Given the description of an element on the screen output the (x, y) to click on. 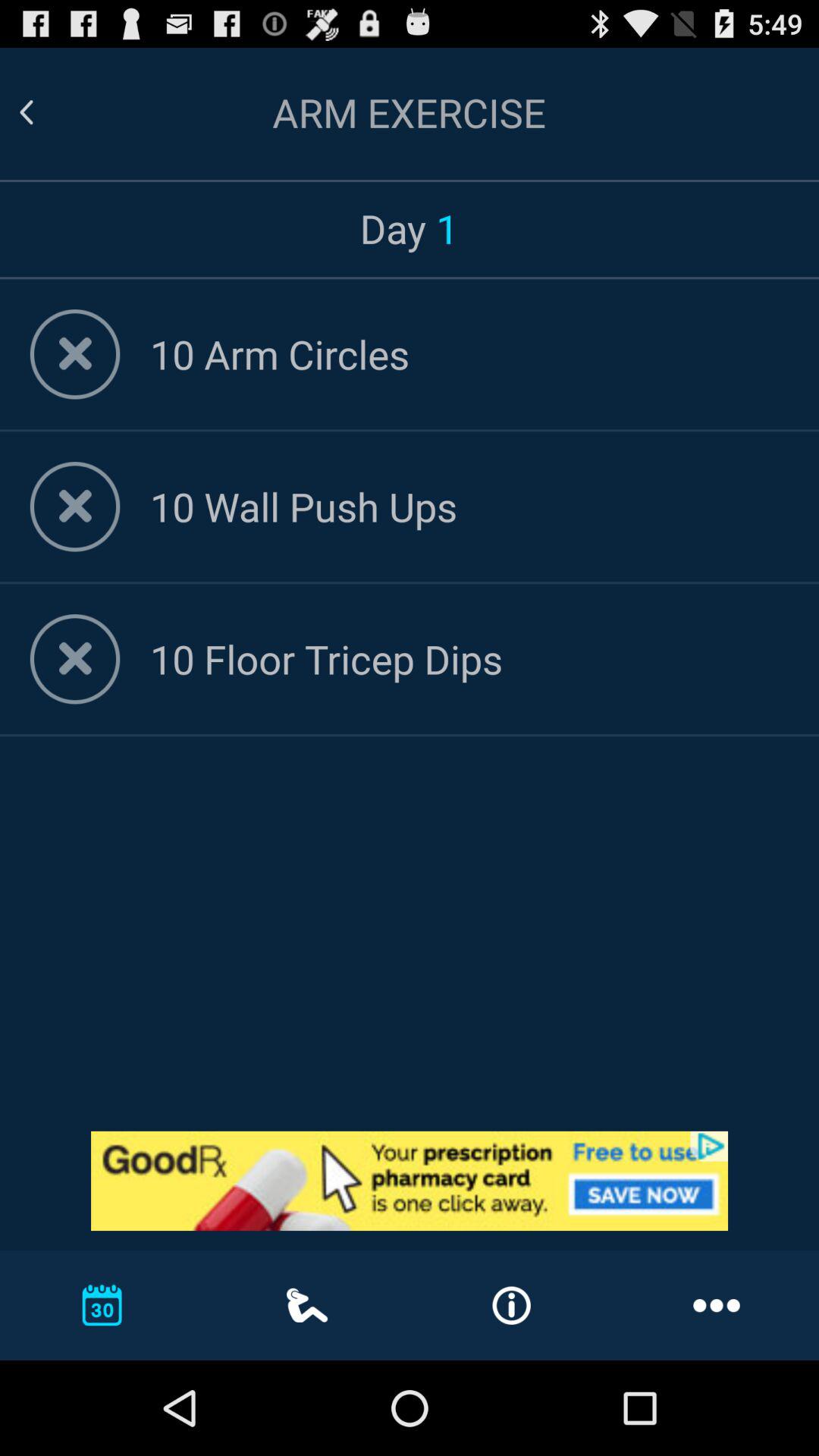
back (44, 112)
